Given the description of an element on the screen output the (x, y) to click on. 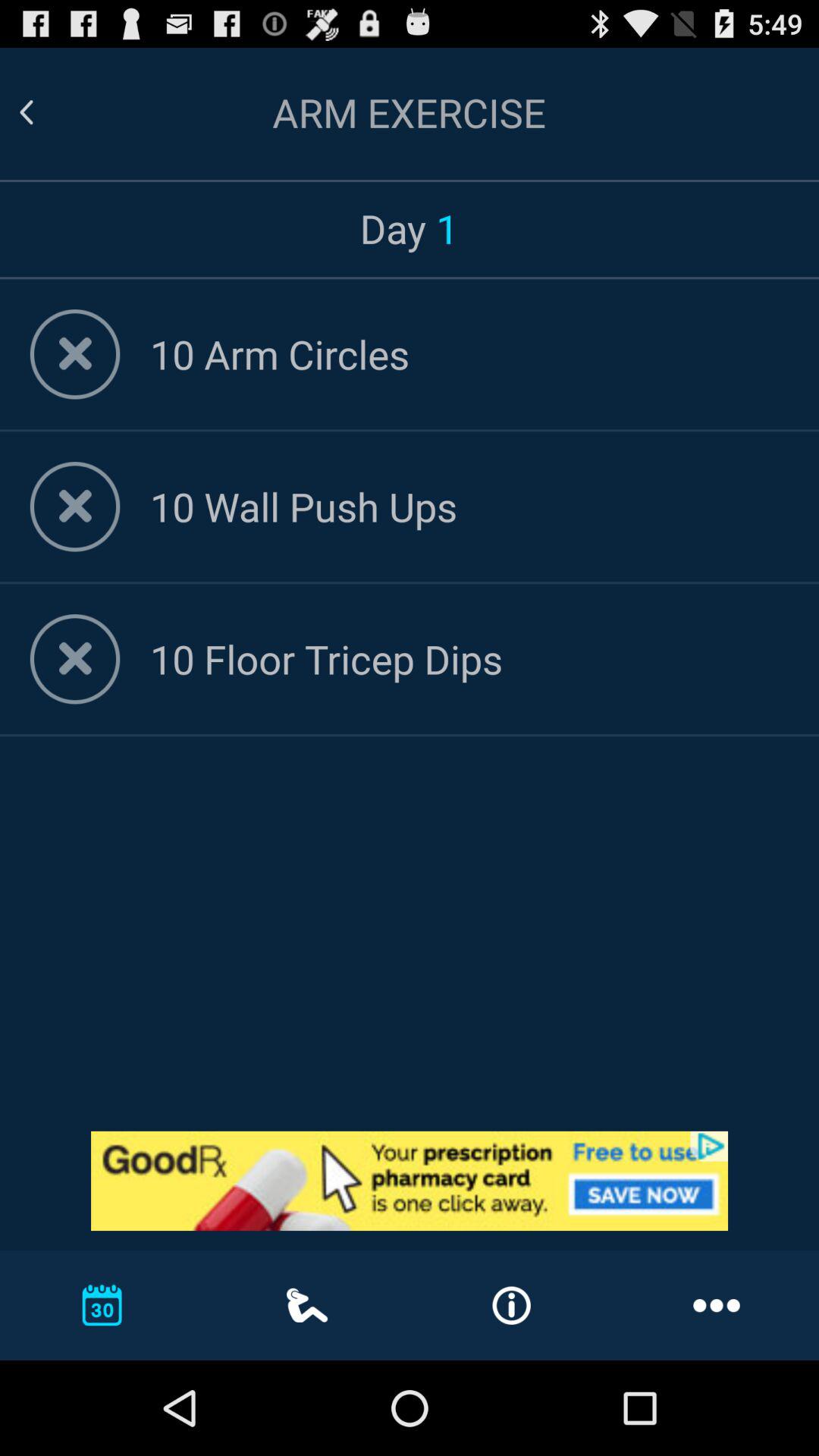
back (44, 112)
